Given the description of an element on the screen output the (x, y) to click on. 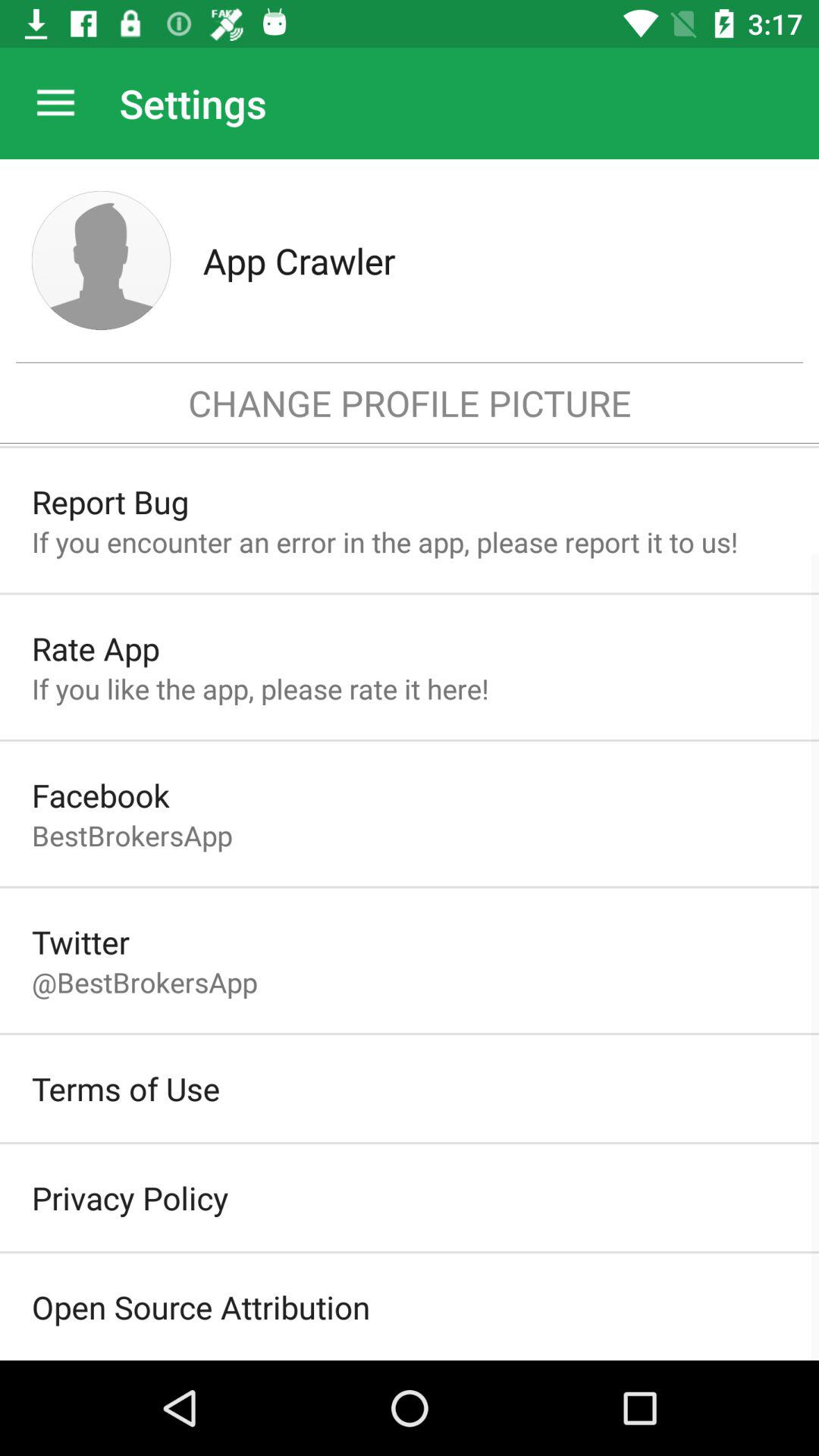
scroll until report bug item (109, 501)
